Given the description of an element on the screen output the (x, y) to click on. 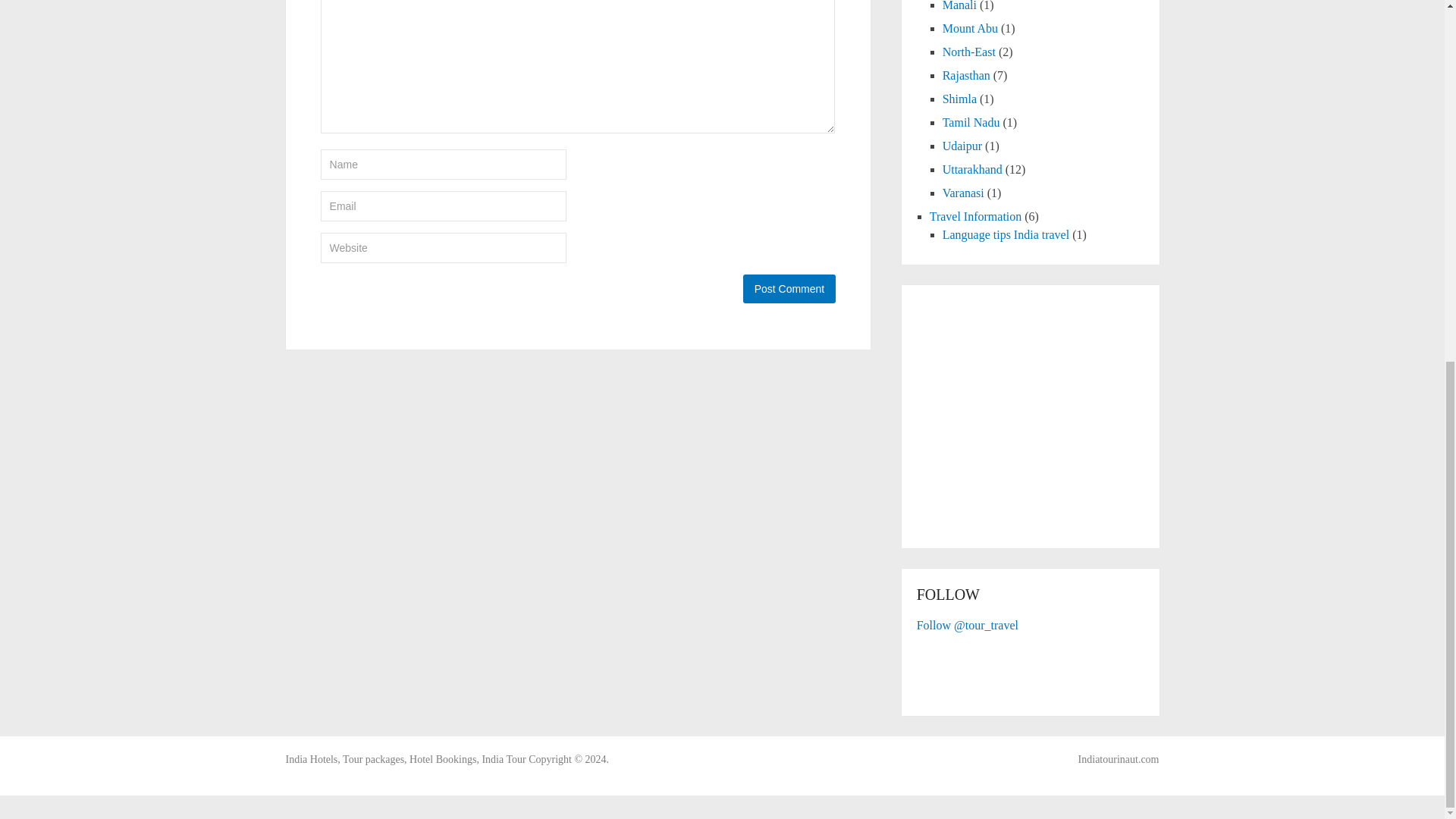
Post Comment (788, 288)
Advertisement (1044, 421)
Post Comment (788, 288)
Unfold The Heritage of India (405, 758)
